Given the description of an element on the screen output the (x, y) to click on. 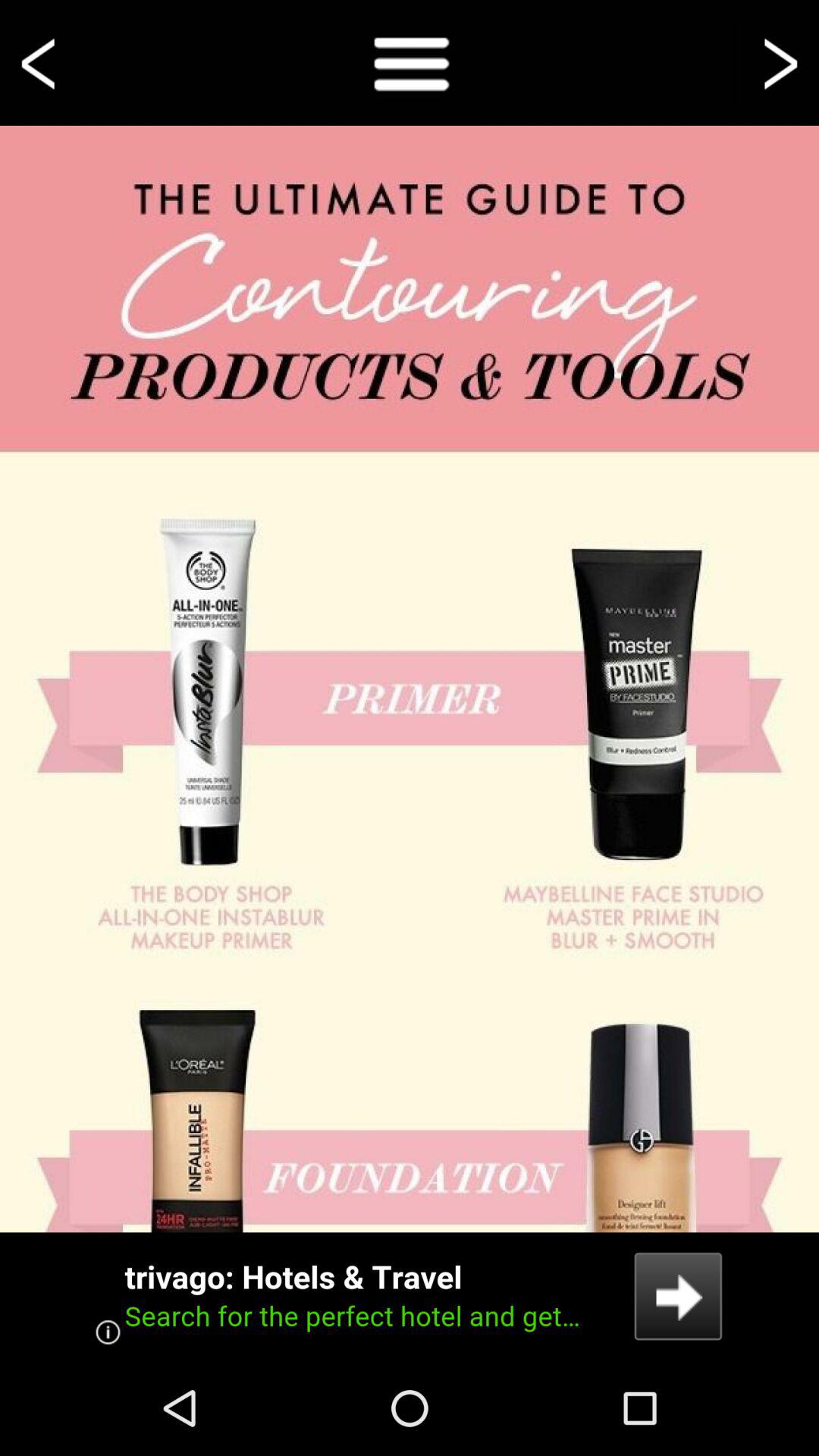
view advertisement (409, 1296)
